Given the description of an element on the screen output the (x, y) to click on. 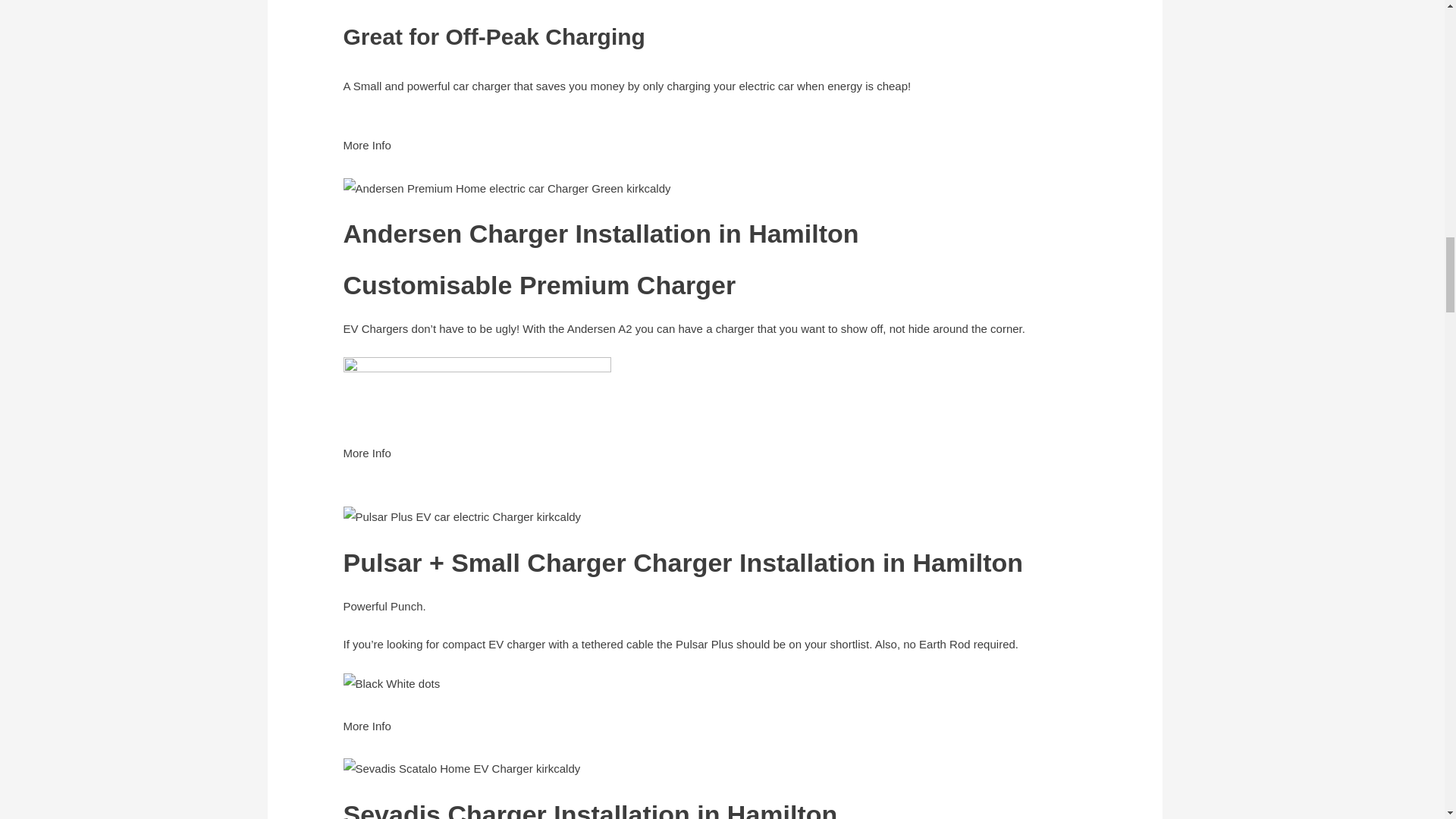
More Info (366, 155)
More Info (366, 736)
More Info (366, 463)
